Given the description of an element on the screen output the (x, y) to click on. 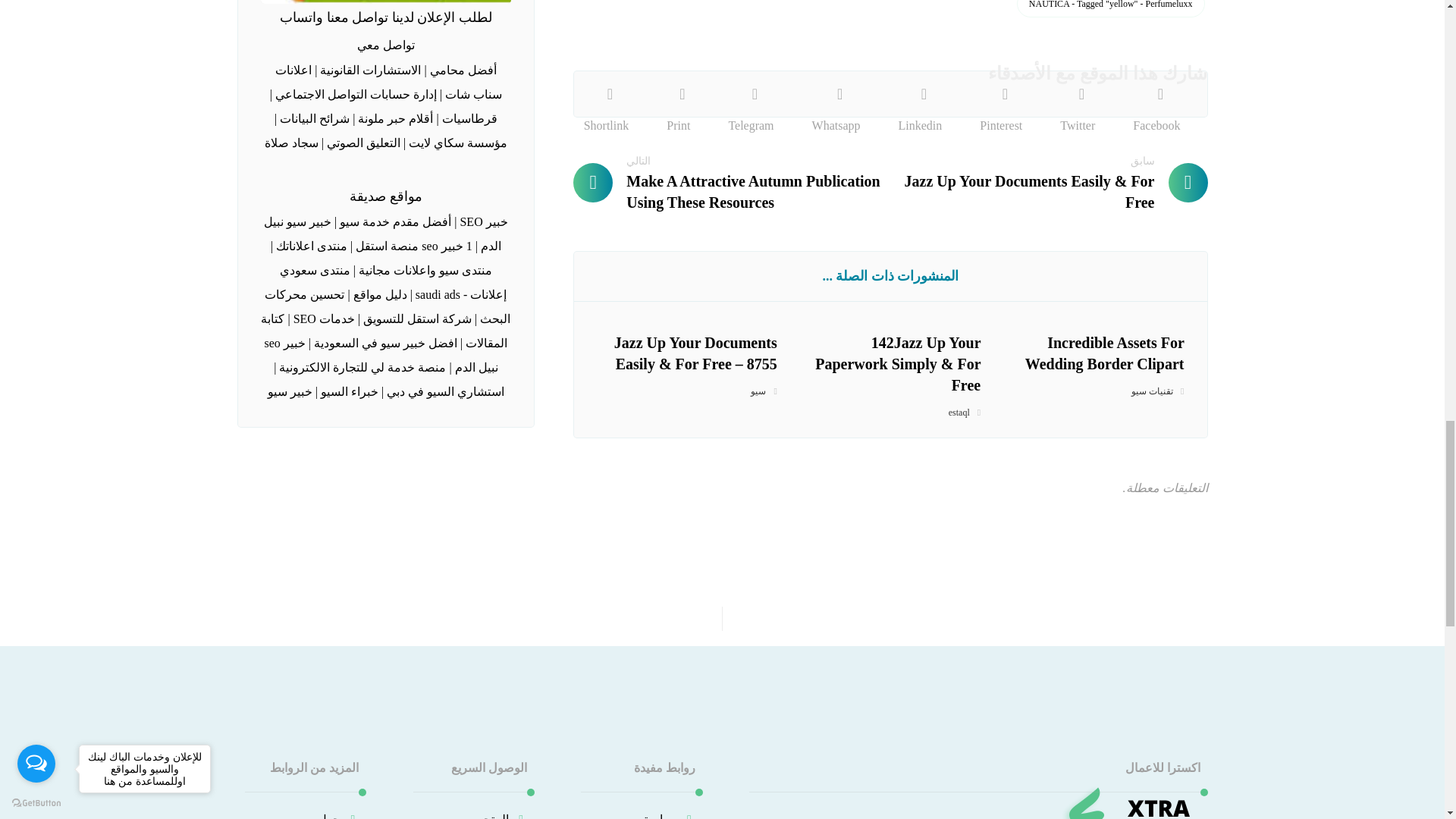
Tags (890, 12)
